Given the description of an element on the screen output the (x, y) to click on. 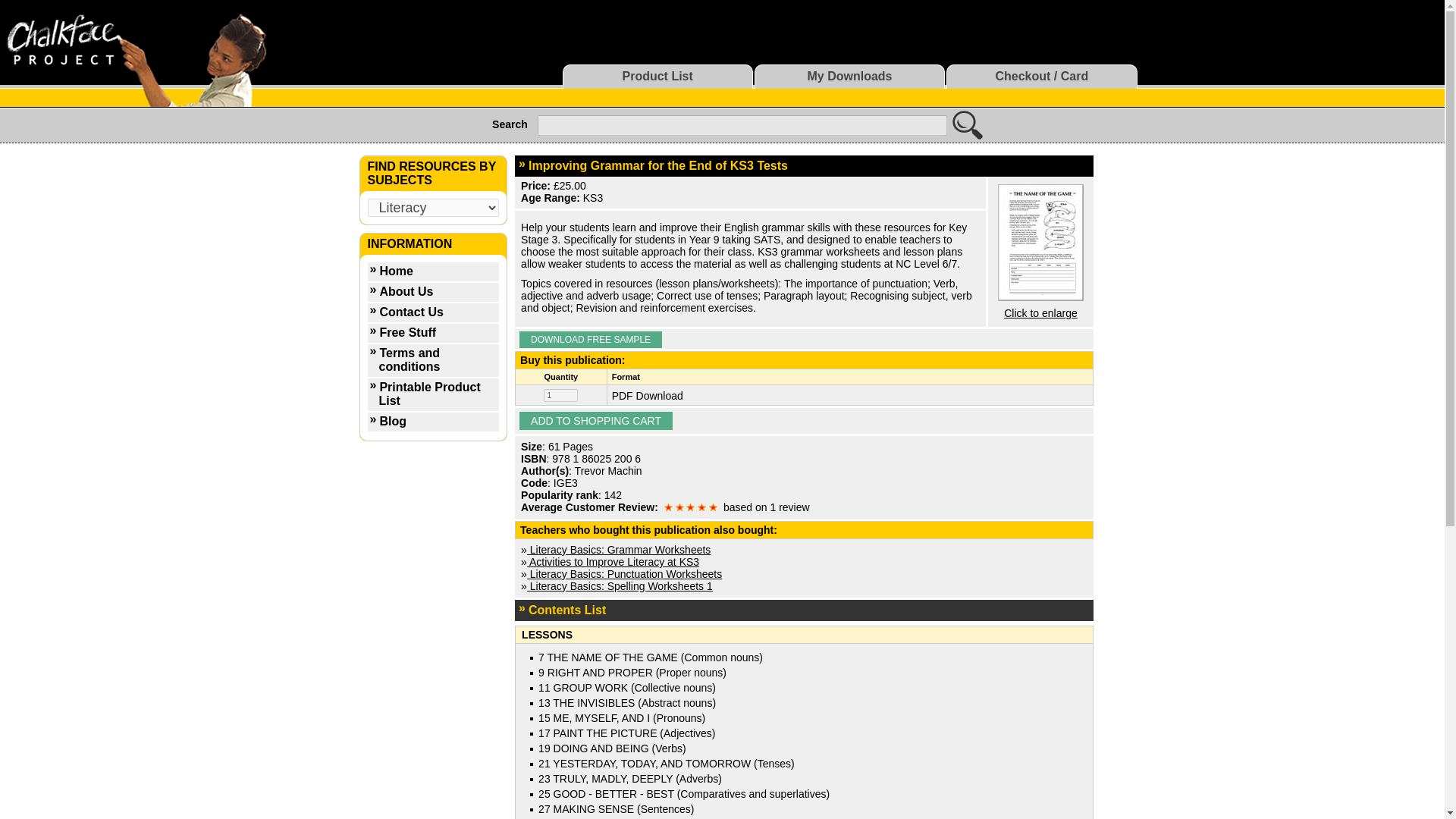
Product List (657, 76)
Literacy Basics: Punctuation Worksheets (624, 573)
Free Stuff (432, 333)
Activities to Improve Literacy at KS3 (612, 562)
Click to enlarge (1040, 313)
add to shopping cart (595, 420)
1 (560, 395)
Blog (432, 422)
Literacy Basics: Grammar Worksheets (618, 549)
About Us (432, 292)
Contact Us (432, 313)
DOWNLOAD FREE SAMPLE (590, 339)
add to shopping cart (595, 420)
Printable Product List (432, 395)
Terms and conditions (432, 360)
